Given the description of an element on the screen output the (x, y) to click on. 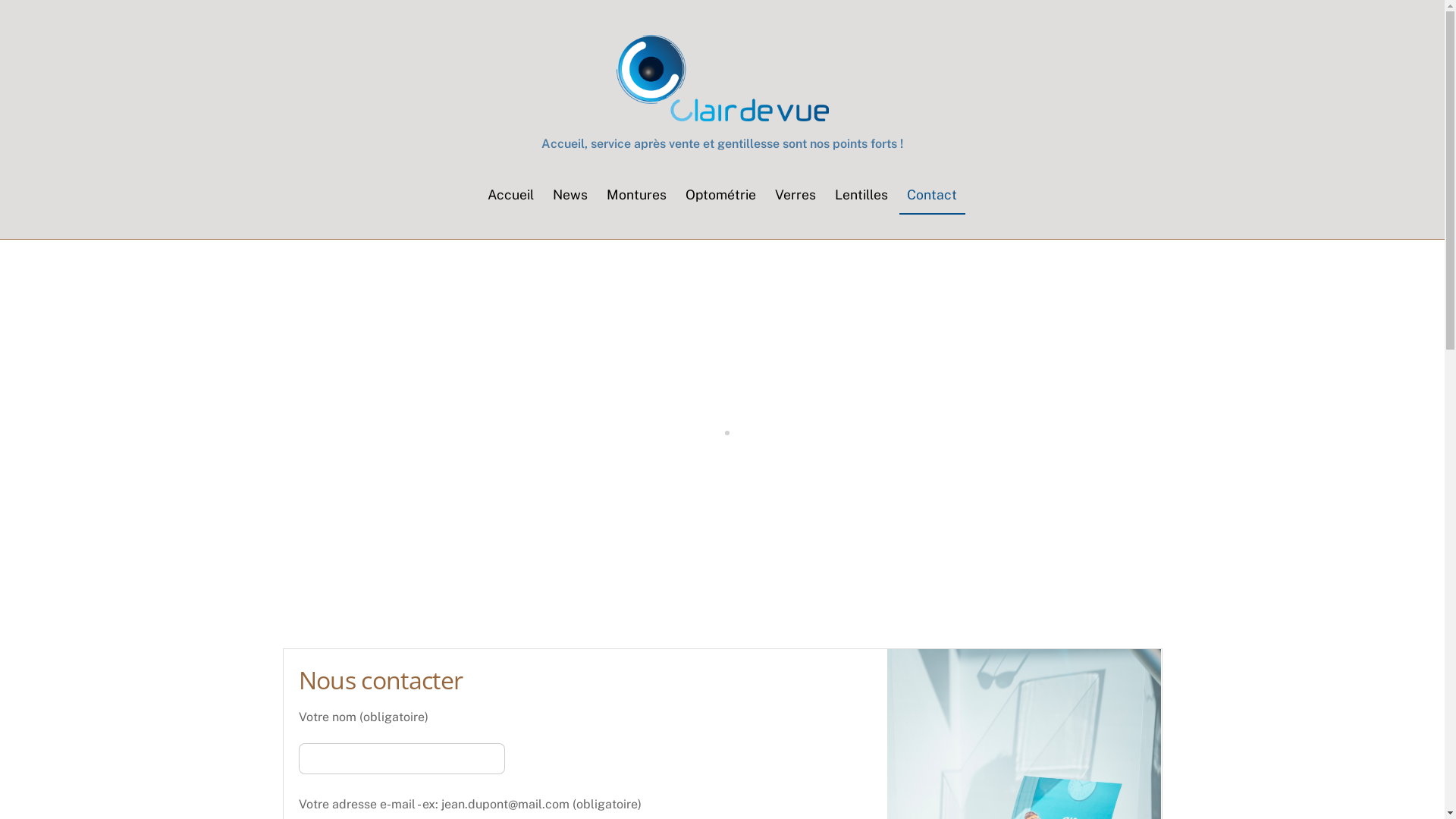
News Element type: text (569, 194)
Montures Element type: text (636, 194)
Lentilles Element type: text (861, 194)
Accueil Element type: text (510, 194)
Clair de Vue Element type: hover (721, 113)
Verres Element type: text (795, 194)
Contact Element type: text (932, 194)
Clair de Vue Element type: hover (721, 78)
